Given the description of an element on the screen output the (x, y) to click on. 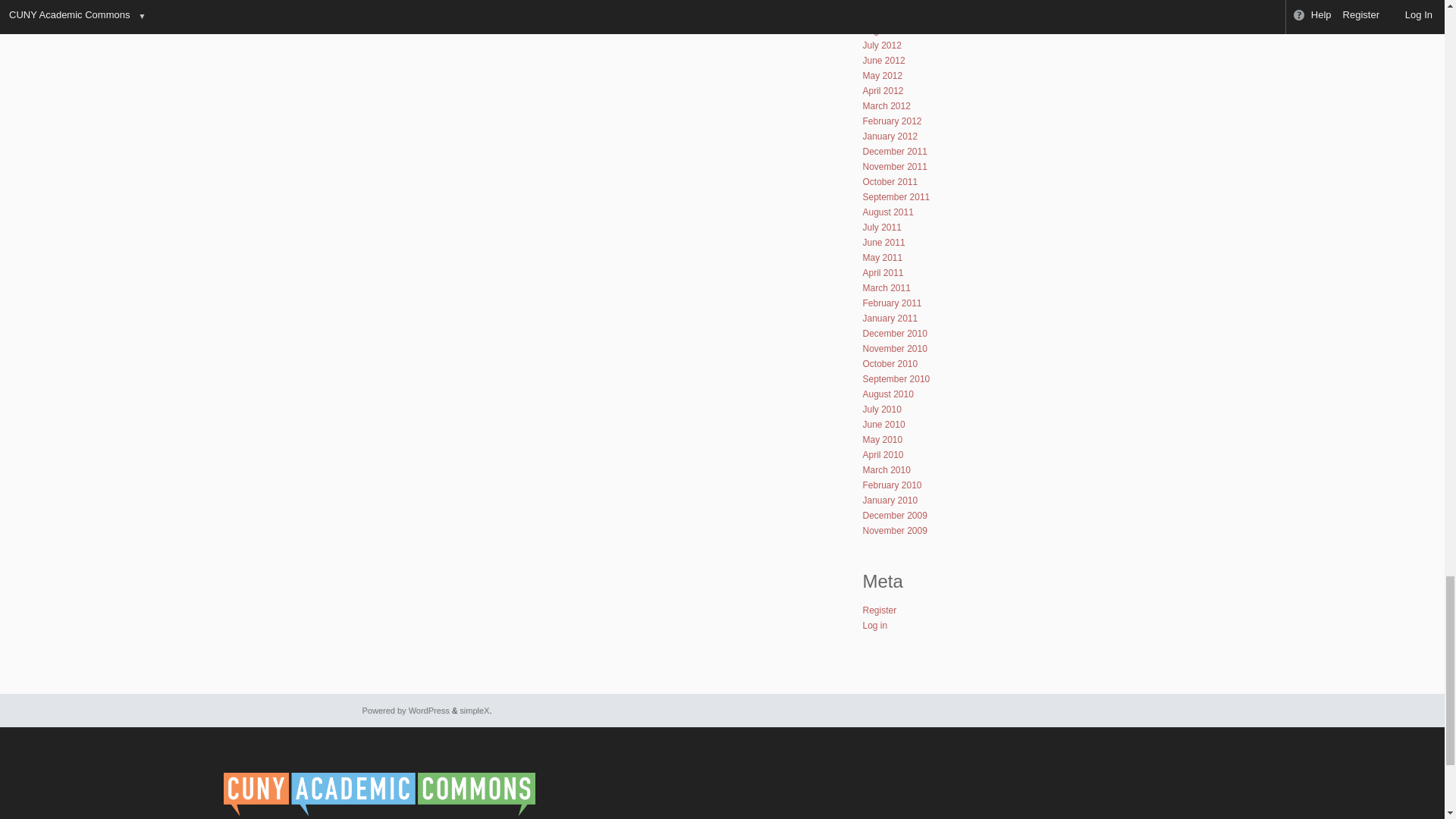
Semantic Personal Publishing Platform (405, 709)
Minimalist WordPress Themes (474, 709)
